Given the description of an element on the screen output the (x, y) to click on. 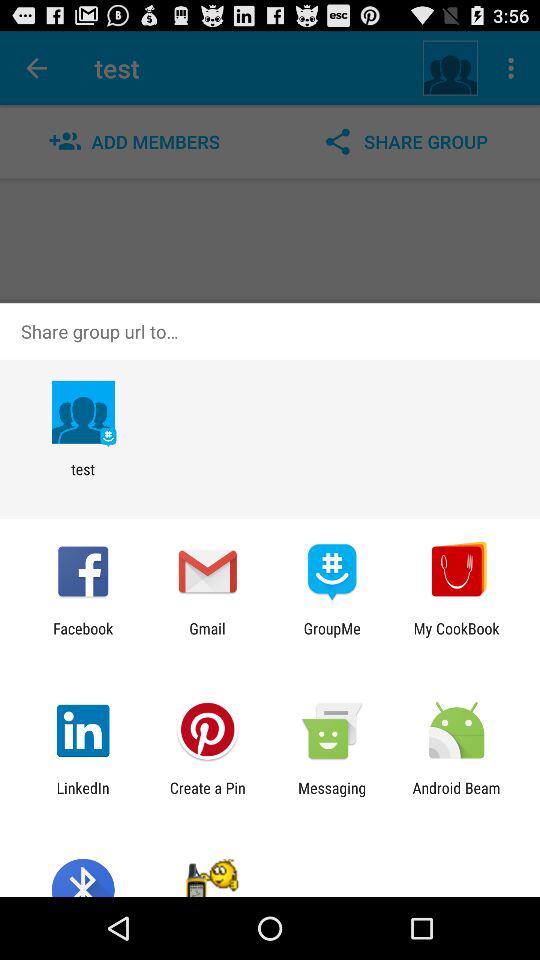
select android beam icon (456, 796)
